Given the description of an element on the screen output the (x, y) to click on. 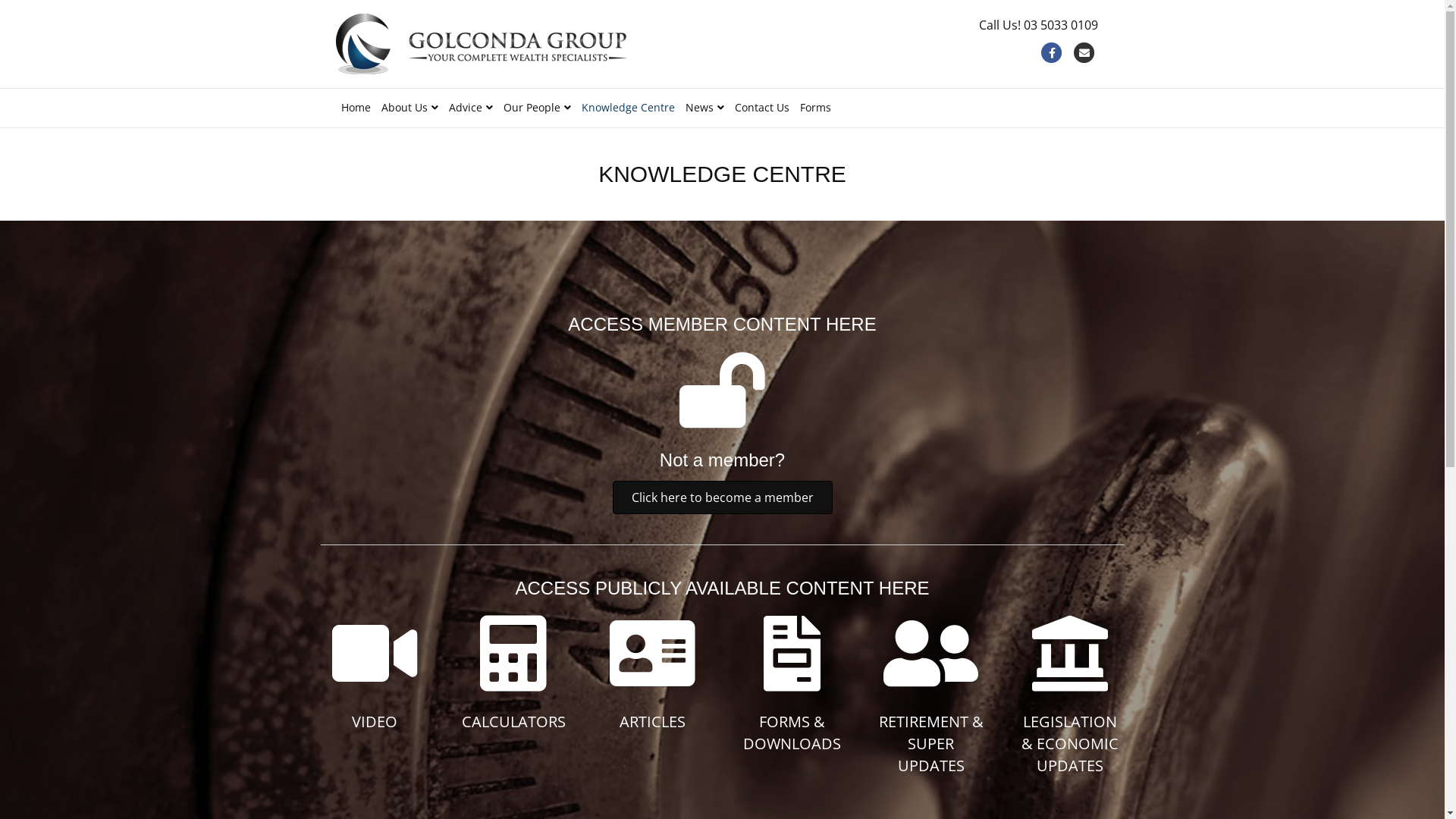
Knowledge Centre Element type: text (628, 107)
Home Element type: text (355, 107)
03 5033 0109 Element type: text (1060, 24)
Email Element type: text (1083, 52)
Contact Us Element type: text (761, 107)
Forms Element type: text (815, 107)
Facebook Element type: text (1051, 52)
News Element type: text (703, 107)
Click here to become a member Element type: text (722, 497)
Our People Element type: text (536, 107)
About Us Element type: text (409, 107)
Advice Element type: text (469, 107)
